Given the description of an element on the screen output the (x, y) to click on. 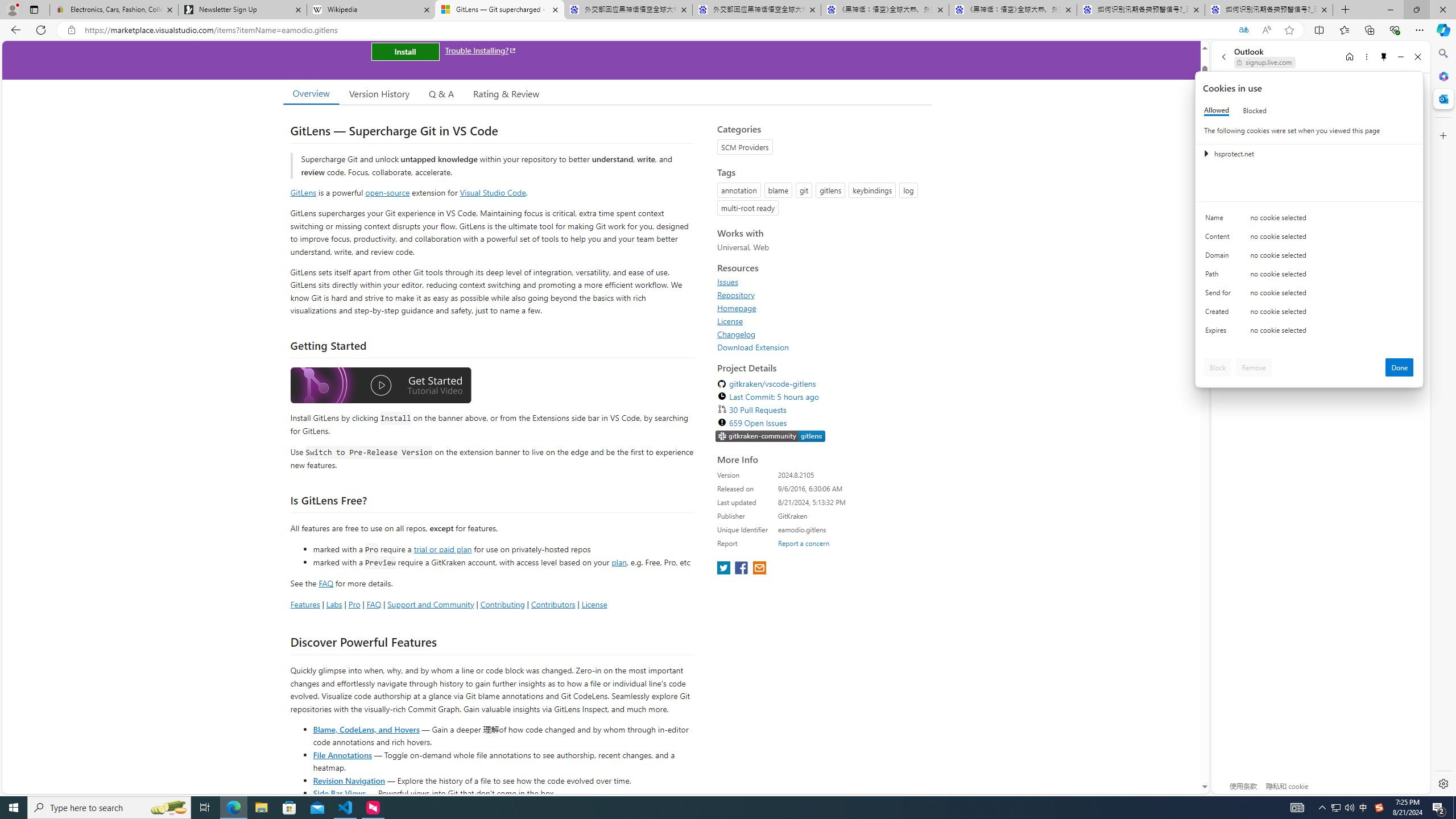
License (820, 320)
Issues (820, 281)
Repository (735, 294)
plan (618, 562)
Name (1219, 220)
Content (1219, 239)
